Given the description of an element on the screen output the (x, y) to click on. 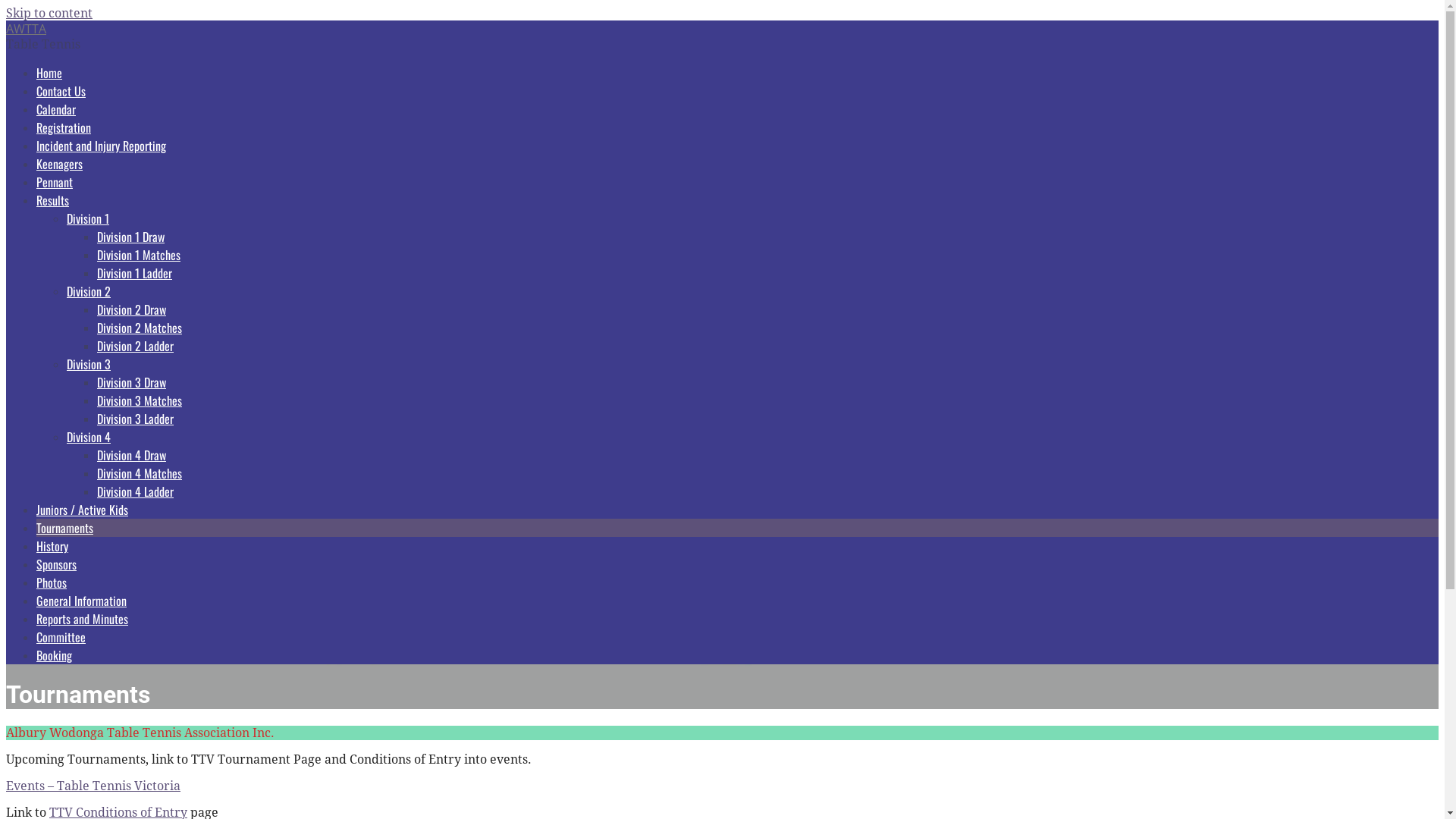
Incident and Injury Reporting Element type: text (101, 145)
Division 4 Draw Element type: text (131, 454)
Keenagers Element type: text (59, 163)
History Element type: text (52, 545)
Division 1 Ladder Element type: text (134, 272)
Sponsors Element type: text (56, 564)
Division 2 Ladder Element type: text (135, 345)
Tournaments Element type: text (64, 527)
Home Element type: text (49, 72)
Contact Us Element type: text (60, 90)
Division 1 Matches Element type: text (138, 254)
Skip to content Element type: text (49, 13)
Division 1 Draw Element type: text (130, 236)
Photos Element type: text (51, 582)
AWTTA Element type: text (26, 28)
Division 3 Element type: text (88, 363)
Division 3 Draw Element type: text (131, 382)
Booking Element type: text (54, 655)
Calendar Element type: text (55, 109)
Division 4 Element type: text (88, 436)
General Information Element type: text (81, 600)
Committee Element type: text (60, 636)
Division 4 Ladder Element type: text (135, 491)
Juniors / Active Kids Element type: text (82, 509)
Division 4 Matches Element type: text (139, 473)
Division 2 Draw Element type: text (131, 309)
Registration Element type: text (63, 127)
Results Element type: text (52, 200)
Division 1 Element type: text (87, 218)
Division 2 Element type: text (88, 291)
Pennant Element type: text (54, 181)
Reports and Minutes Element type: text (82, 618)
Division 2 Matches Element type: text (139, 327)
Division 3 Ladder Element type: text (135, 418)
Division 3 Matches Element type: text (139, 400)
